Given the description of an element on the screen output the (x, y) to click on. 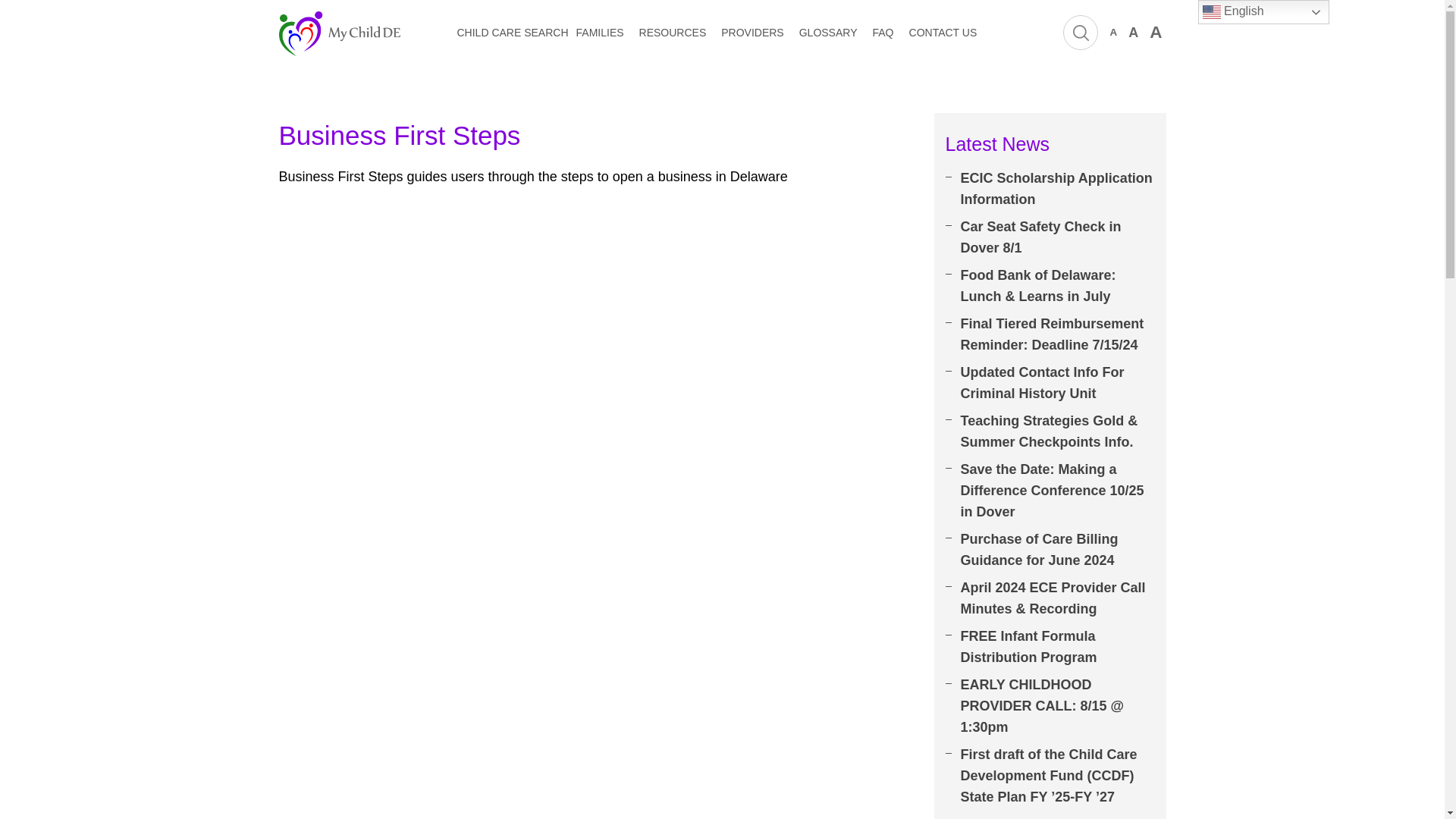
PROVIDERS (751, 33)
A (1155, 31)
Increase font size (1155, 31)
CHILD CARE SEARCH (512, 33)
ECIC Scholarship Application Information (1049, 191)
FAMILIES (600, 33)
Reset font size (1132, 32)
Updated Contact Info For Criminal History Unit (1049, 385)
A (1113, 31)
GLOSSARY (828, 33)
FAQ (882, 33)
CONTACT US (942, 33)
A (1132, 32)
RESOURCES (672, 33)
Decrease font size (1113, 31)
